Given the description of an element on the screen output the (x, y) to click on. 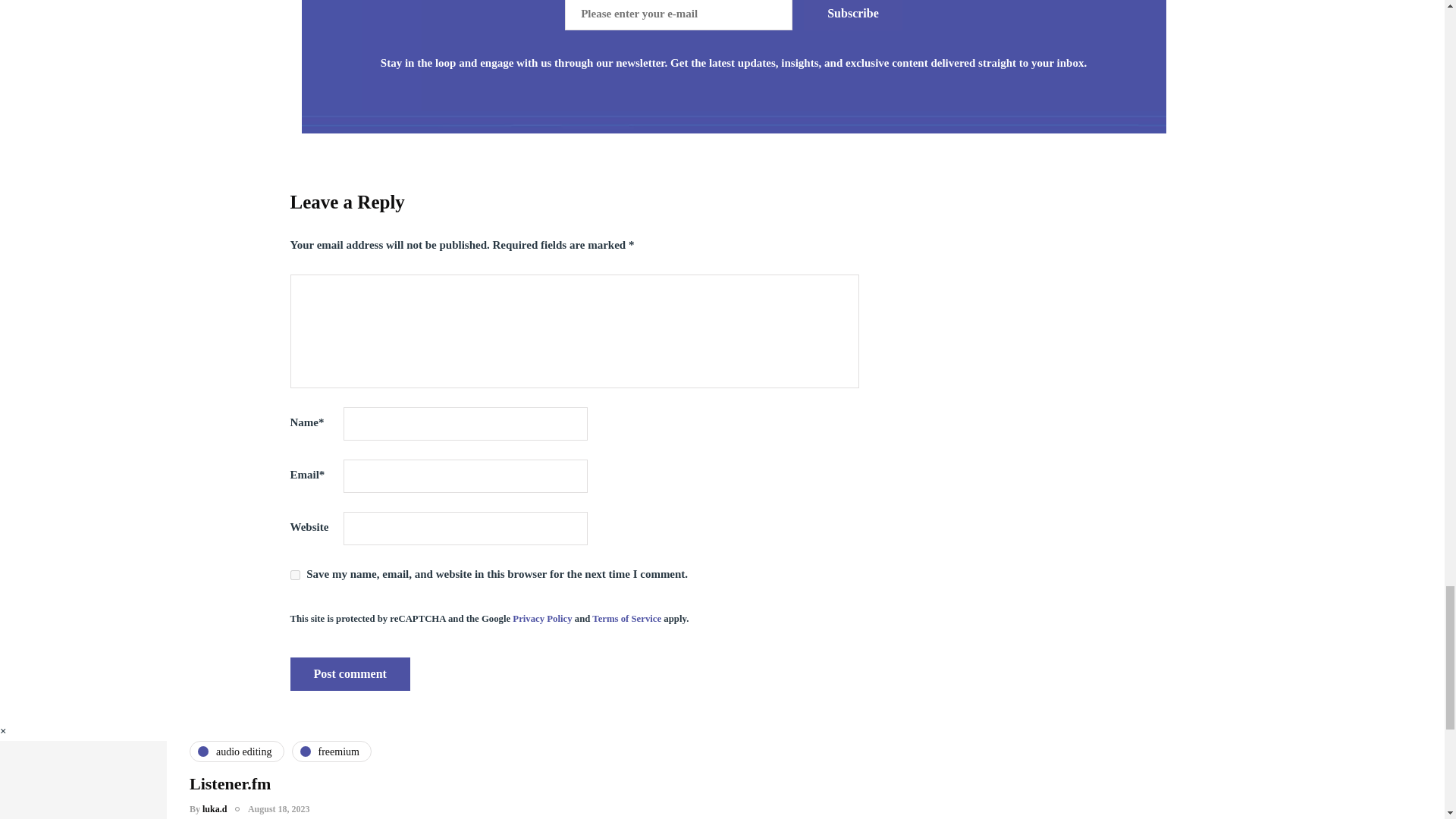
Post comment (349, 674)
yes (294, 574)
